Given the description of an element on the screen output the (x, y) to click on. 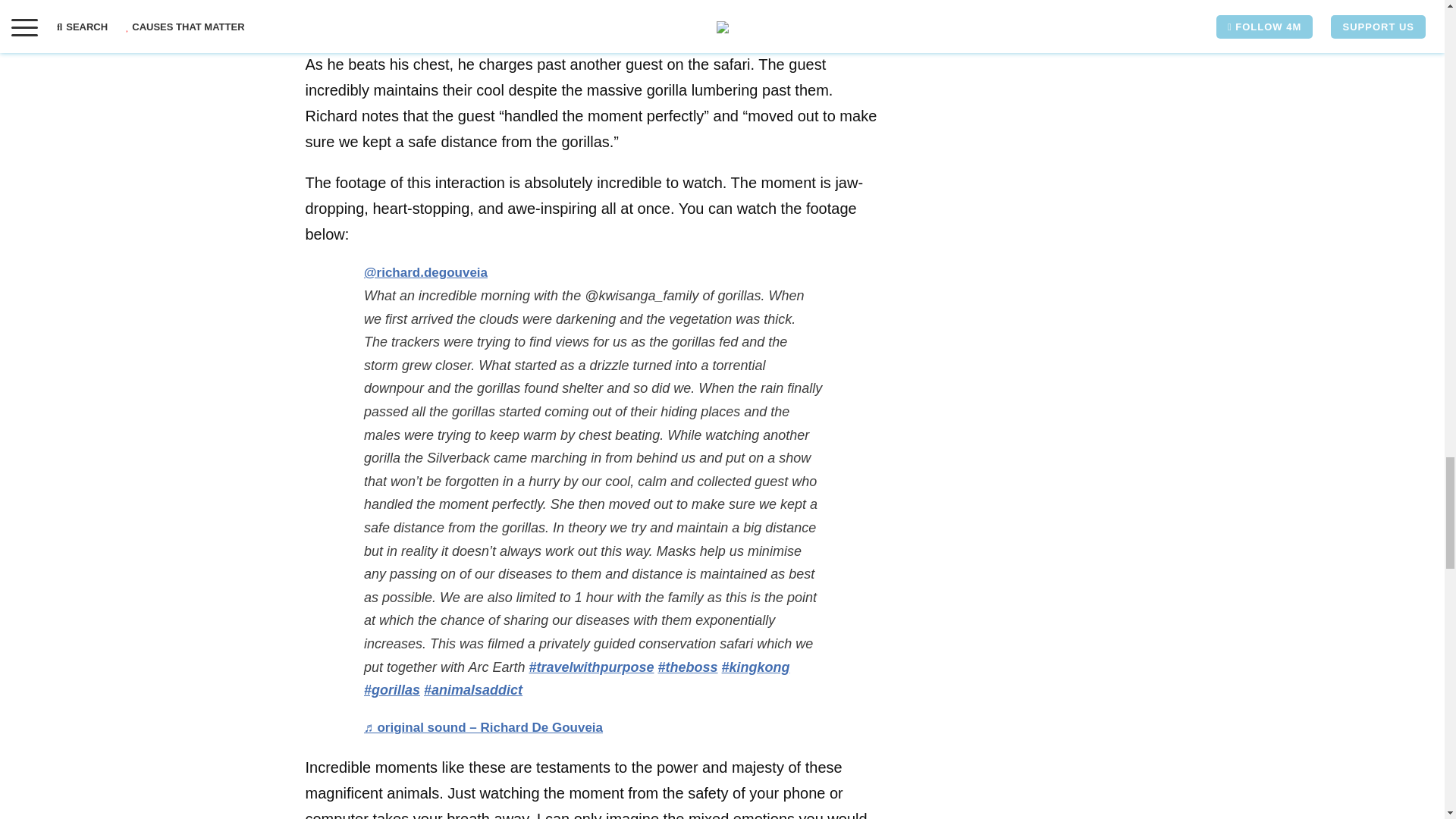
theboss (687, 667)
animalsaddict (472, 689)
gorillas (392, 689)
kingkong (756, 667)
travelwithpurpose (590, 667)
